Given the description of an element on the screen output the (x, y) to click on. 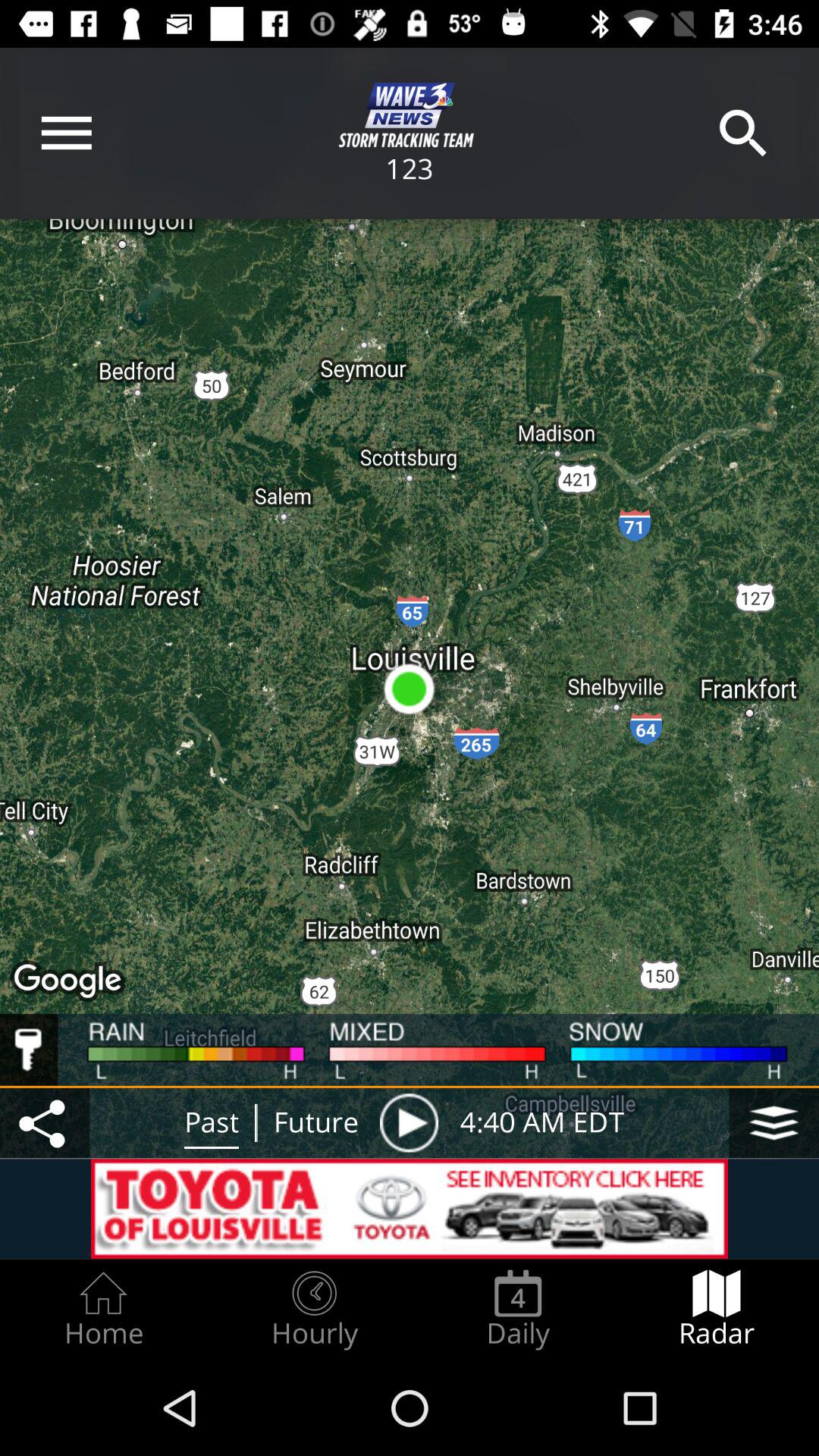
select item next to the daily item (716, 1309)
